Given the description of an element on the screen output the (x, y) to click on. 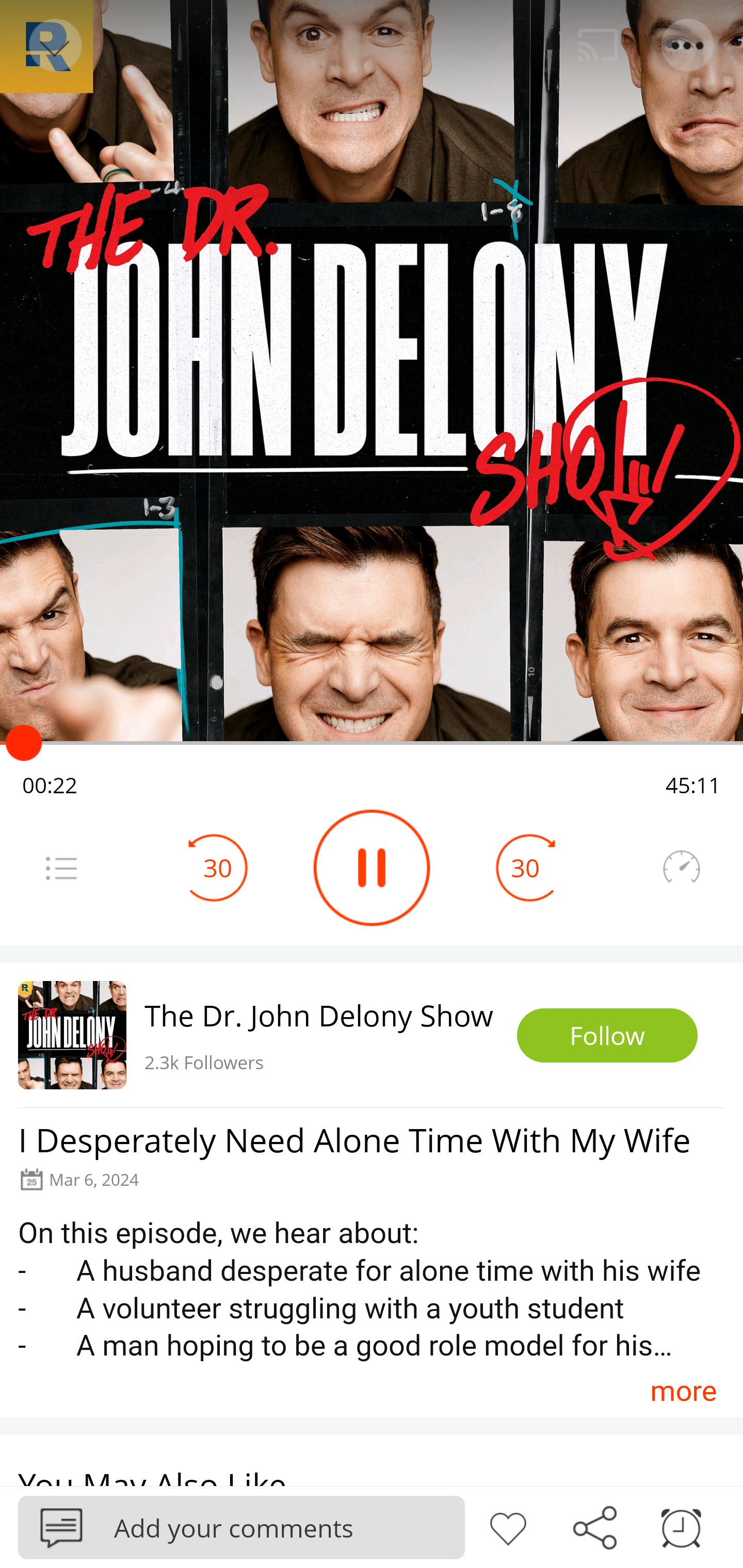
Back (53, 45)
Cast. Disconnected (597, 45)
Menu (688, 45)
Play (371, 867)
30 Seek Backward (217, 867)
30 Seek Forward (525, 867)
Menu (60, 867)
Speedometer (681, 867)
The Dr. John Delony Show 2.3k Followers Follow (371, 1034)
Follow (607, 1035)
more (682, 1390)
Like (508, 1526)
Share (594, 1526)
Sleep timer (681, 1526)
Podbean Add your comments (241, 1526)
